Given the description of an element on the screen output the (x, y) to click on. 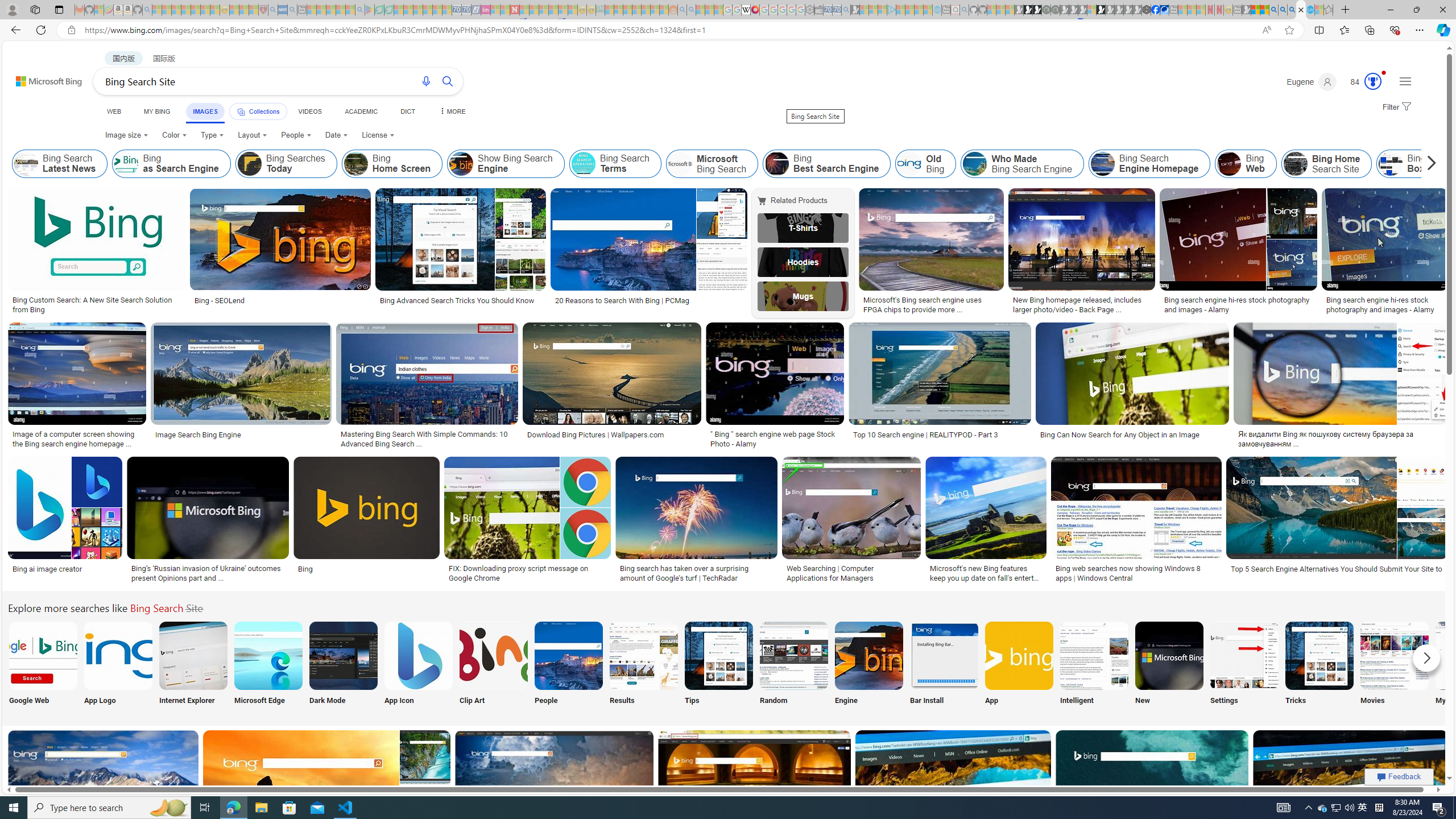
Old Bing (908, 163)
Bing Intelligent Search (1093, 654)
People (295, 135)
License (377, 135)
Bar Install (944, 665)
Layout (252, 135)
Intelligent (1093, 665)
